Given the description of an element on the screen output the (x, y) to click on. 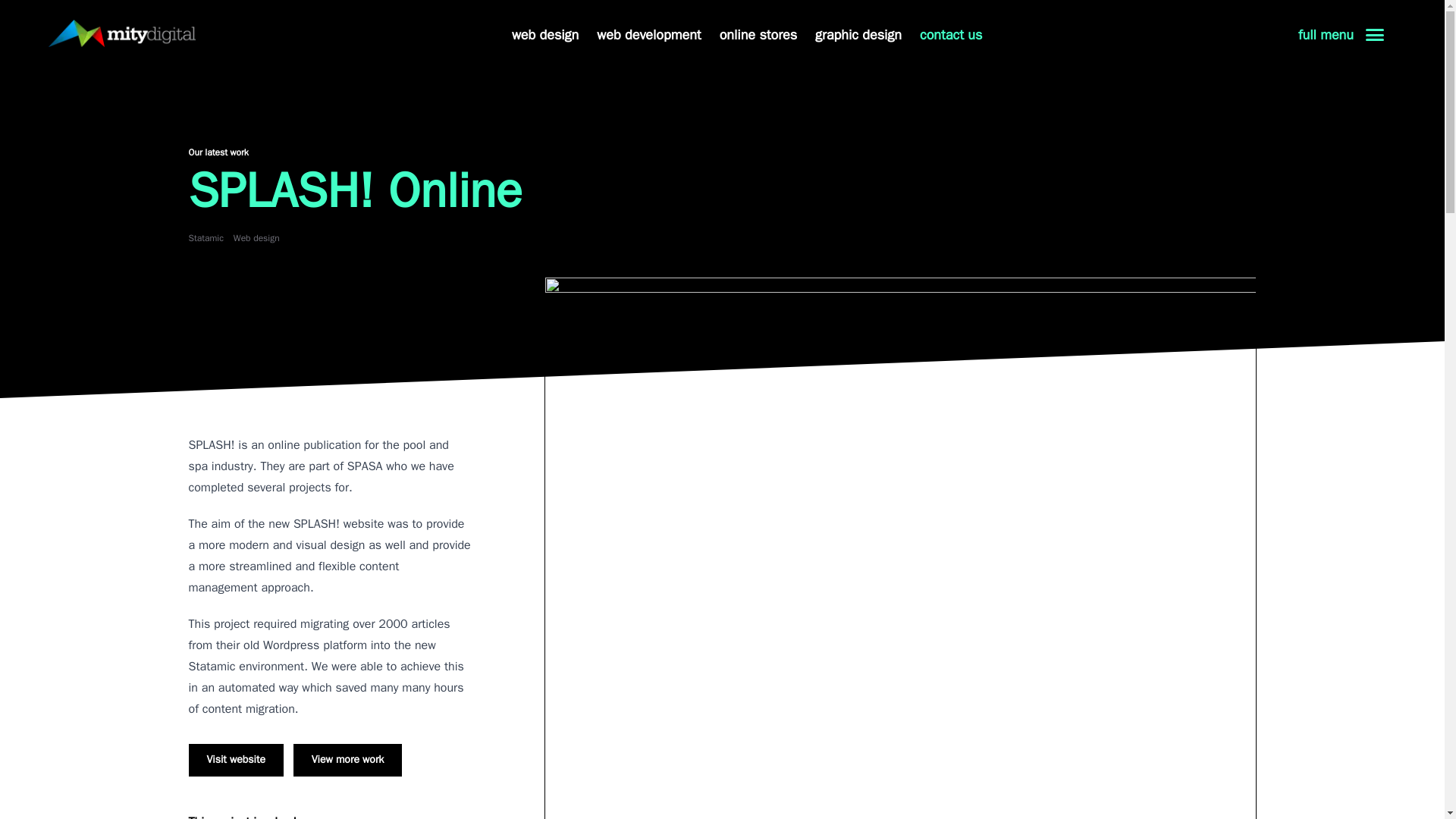
Visit website (234, 759)
graphic design (858, 34)
full menu (1341, 34)
contact us (950, 34)
Web design (255, 237)
web development (648, 34)
web design (545, 34)
online stores (757, 34)
Statamic (205, 237)
View more work (348, 759)
